Given the description of an element on the screen output the (x, y) to click on. 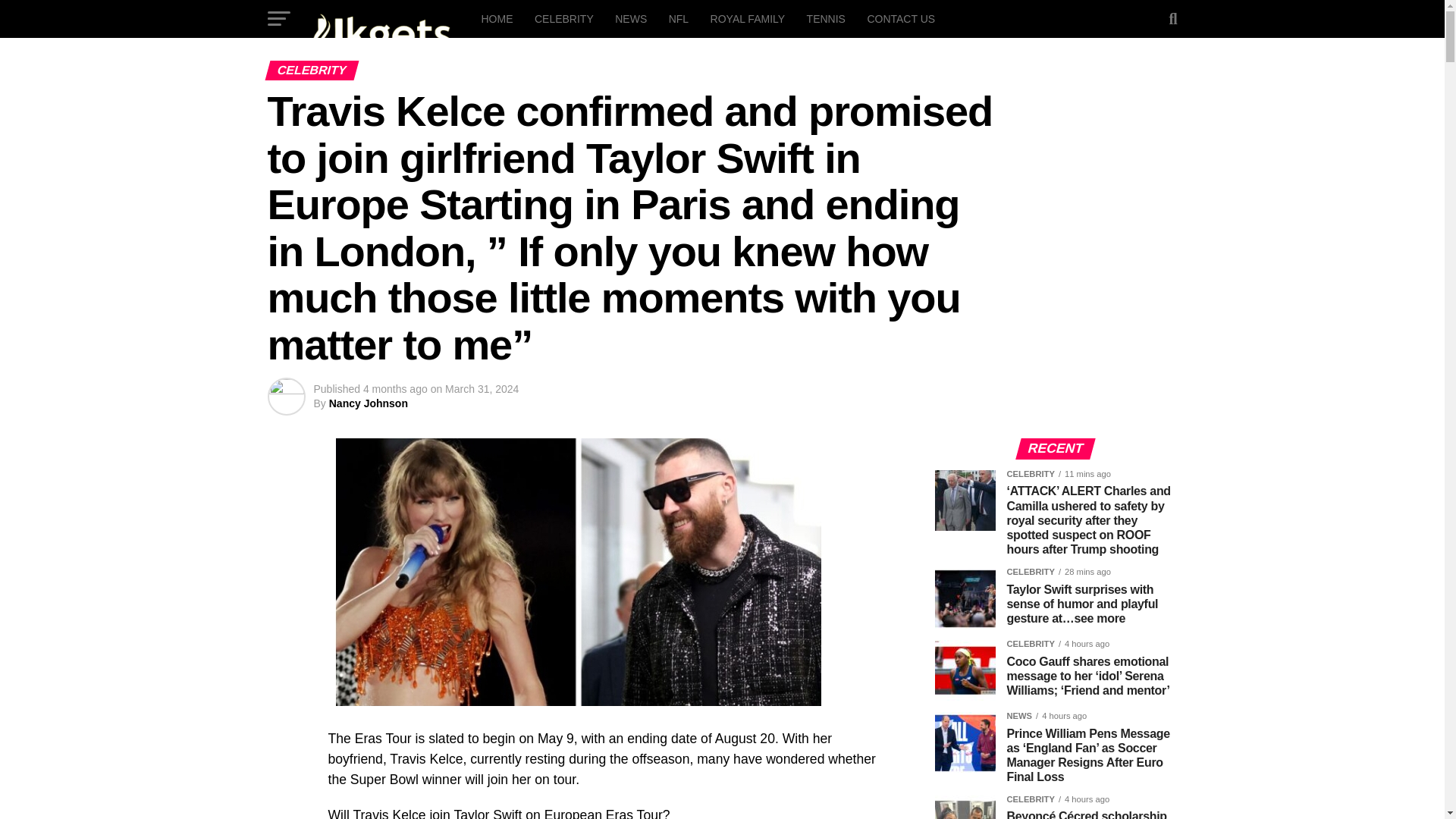
CELEBRITY (563, 18)
NEWS (630, 18)
NFL (678, 18)
HOME (496, 18)
RECENT (1055, 449)
TENNIS (825, 18)
CONTACT US (900, 18)
ROYAL FAMILY (747, 18)
Nancy Johnson (368, 403)
Posts by Nancy Johnson (368, 403)
